Given the description of an element on the screen output the (x, y) to click on. 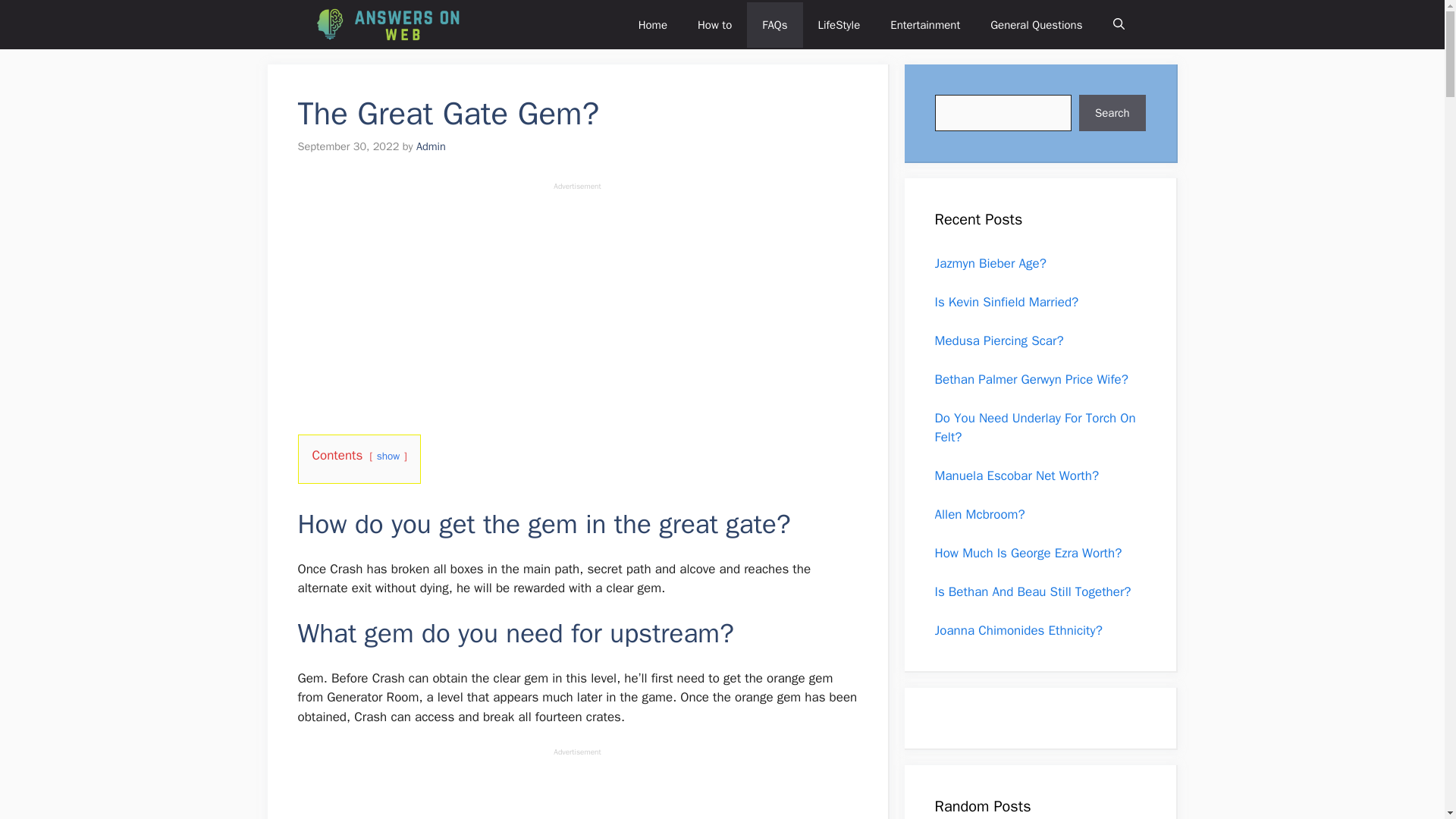
Jazmyn Bieber Age? (989, 262)
Search (1111, 113)
Advertisement (576, 297)
How to (714, 23)
FAQs (774, 23)
LifeStyle (838, 23)
Is Kevin Sinfield Married? (1006, 302)
View all posts by Admin (430, 146)
Advertisement (576, 788)
General Questions (1036, 23)
Admin (430, 146)
Answers On Web (390, 24)
Home (652, 23)
Entertainment (925, 23)
show (388, 455)
